Given the description of an element on the screen output the (x, y) to click on. 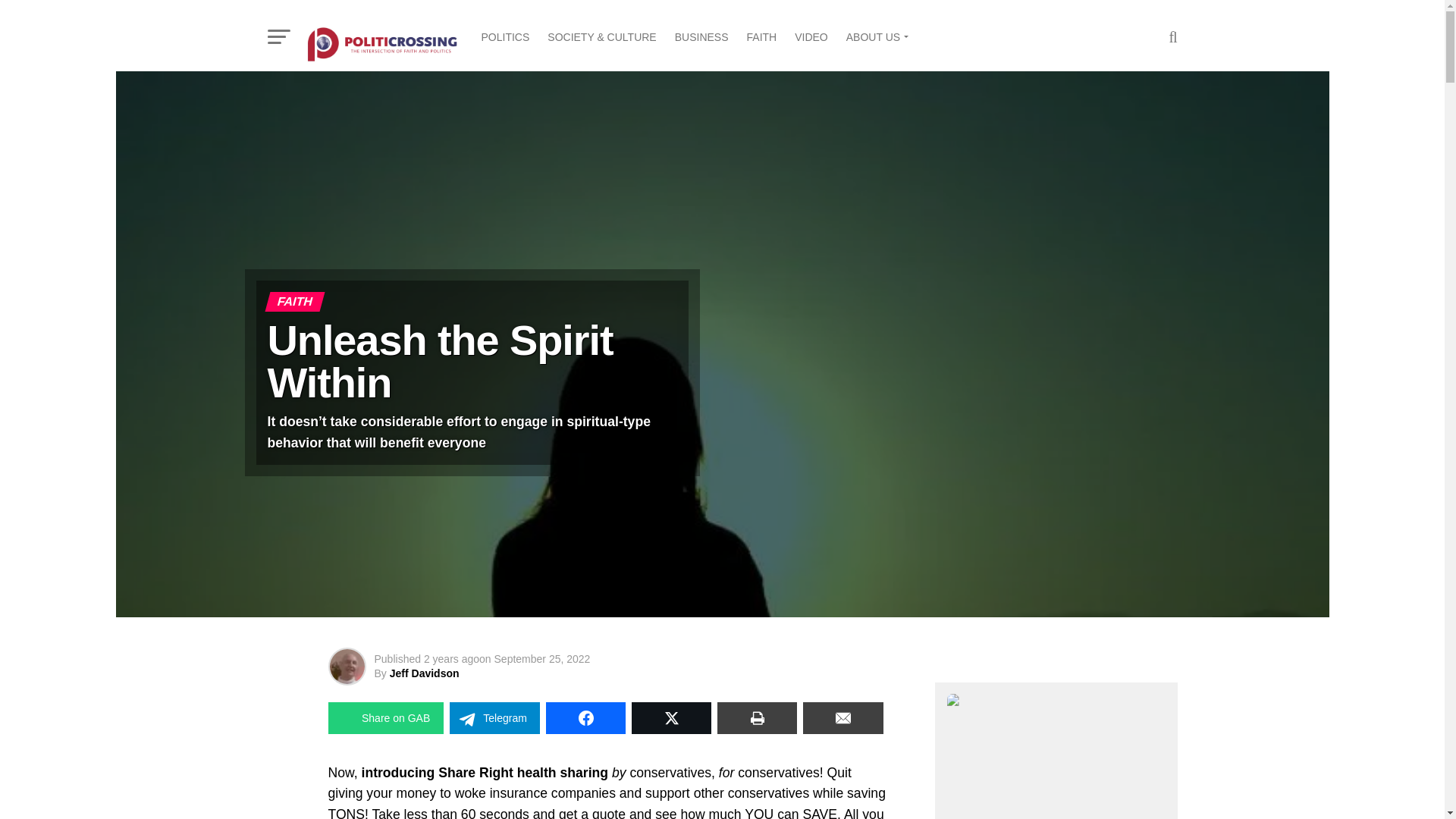
Share on Share on GAB (384, 717)
Jeff Davidson (425, 673)
POLITICS (504, 37)
VIDEO (811, 37)
ABOUT US (874, 37)
FAITH (762, 37)
Share on Telegram (494, 717)
Share on GAB (384, 717)
BUSINESS (701, 37)
Telegram (494, 717)
